Given the description of an element on the screen output the (x, y) to click on. 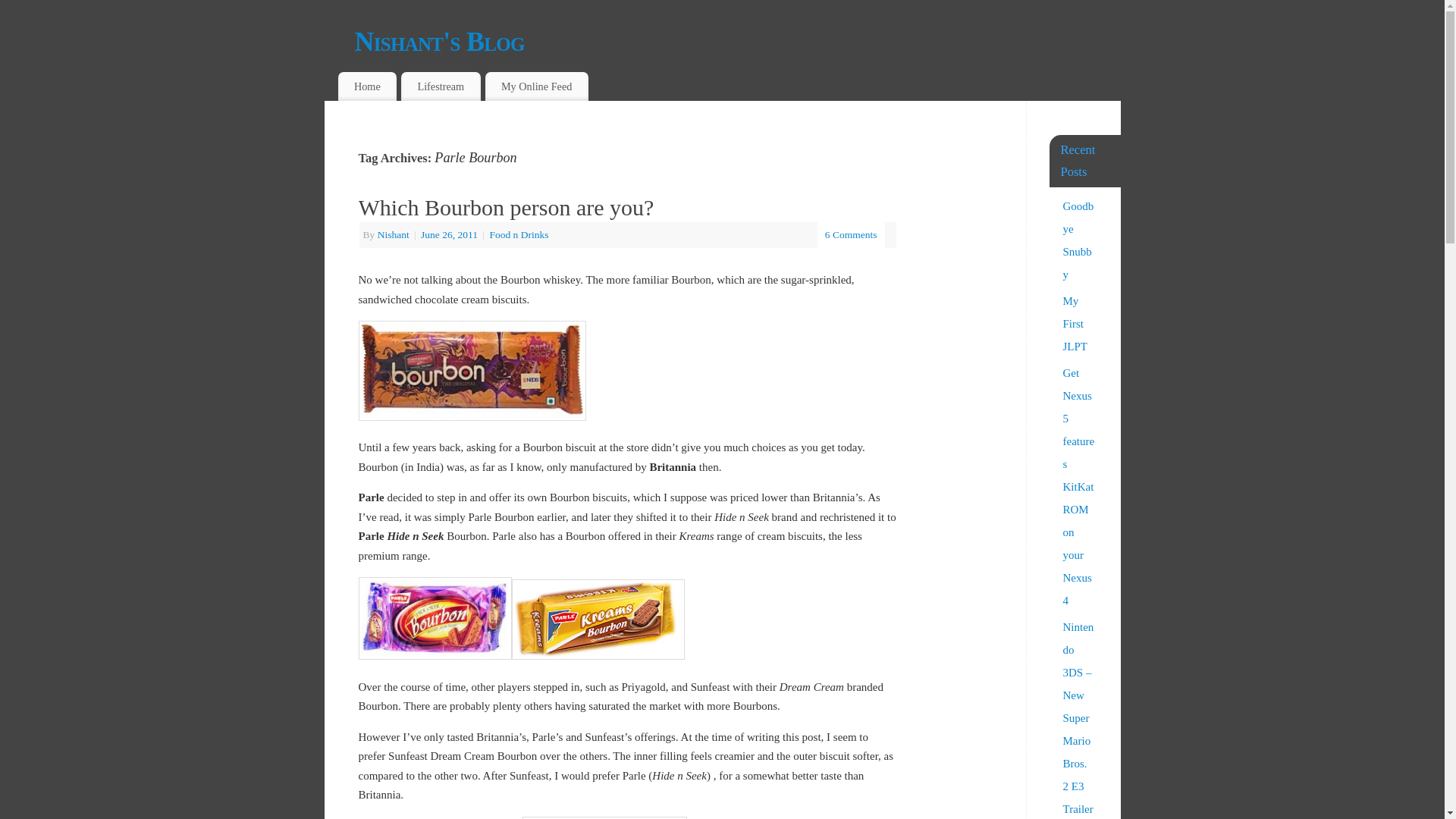
Which Bourbon person are you? (505, 207)
Home (367, 86)
Lifestream (440, 86)
View all posts by Nishant (393, 234)
6 Comments (851, 234)
Britannia Bourbon (471, 370)
Permalink to Which Bourbon person are you? (505, 207)
Nishant's Blog (738, 41)
Parle Hide and Seek Bourbon (434, 618)
Nishant's Blog (738, 41)
Nishant (393, 234)
Kreams Bourbon (597, 619)
18:06 (450, 234)
Priyagold Bourbon (603, 817)
My Online Feed (536, 86)
